Given the description of an element on the screen output the (x, y) to click on. 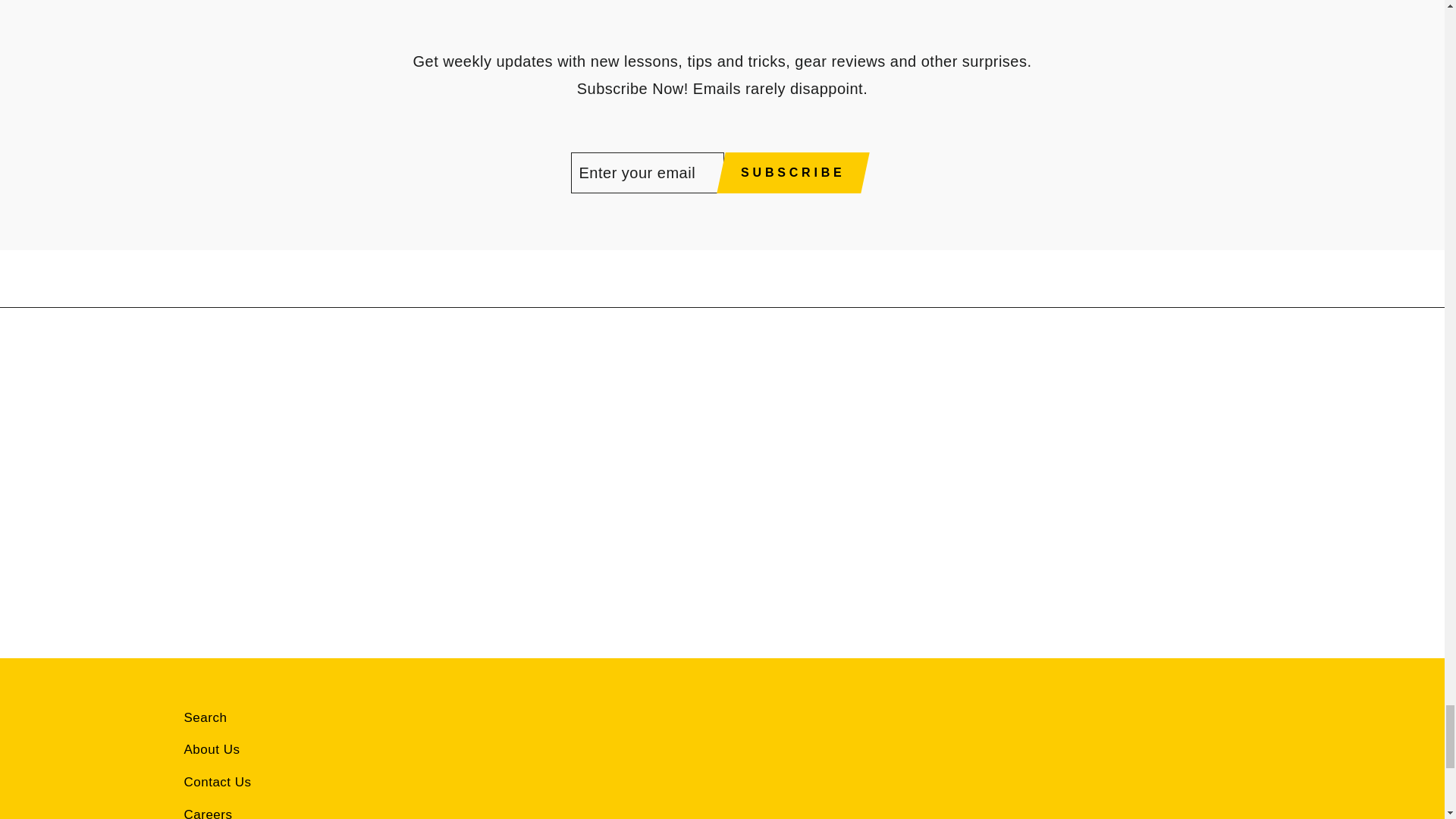
Careers (207, 809)
Contact Us (216, 782)
About Us (211, 749)
Search (205, 718)
SUBSCRIBE (792, 172)
